Given the description of an element on the screen output the (x, y) to click on. 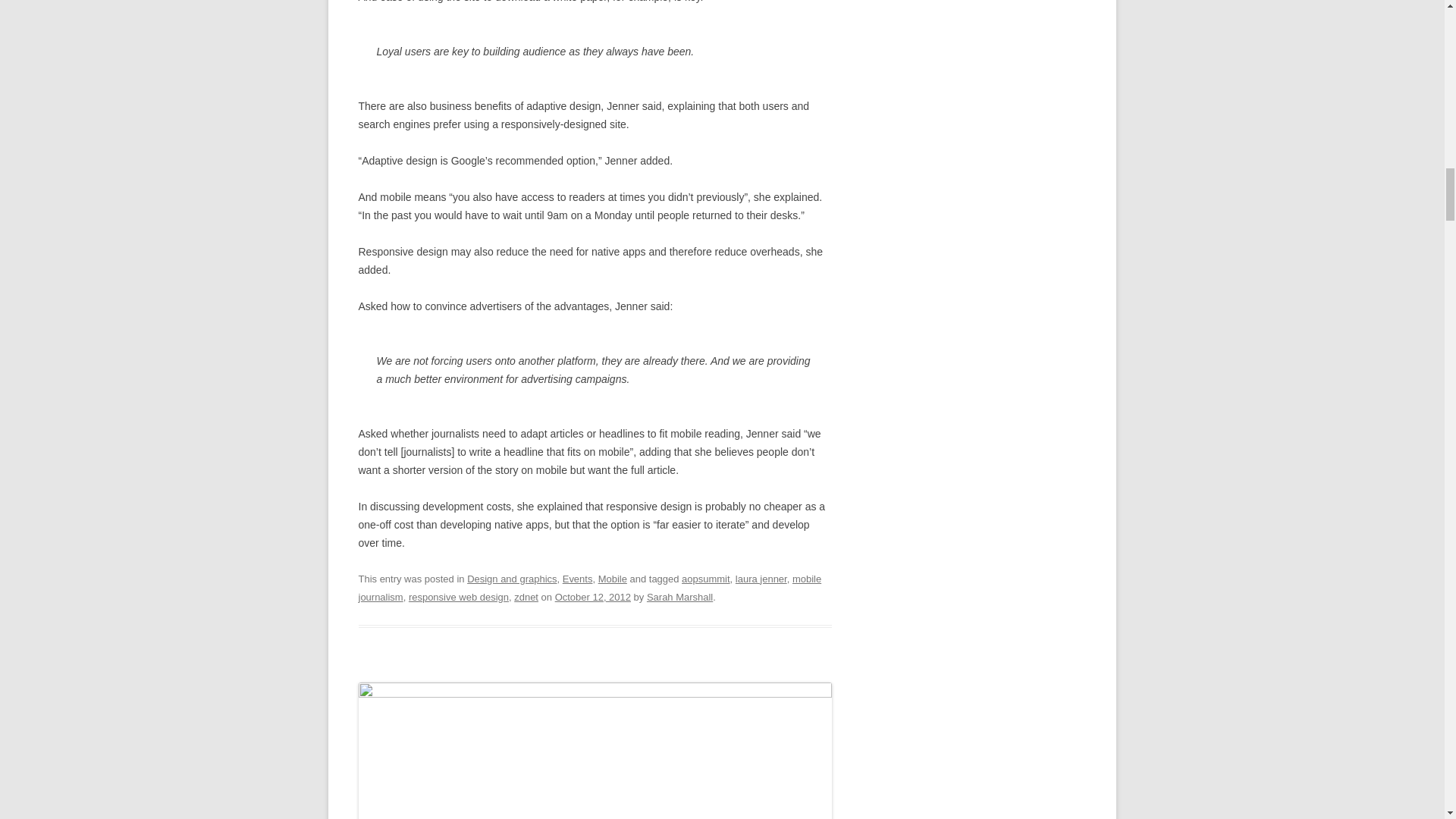
Sarah Marshall (679, 596)
View all posts by Sarah Marshall (679, 596)
Mobile (612, 578)
2:03 pm (592, 596)
Events (577, 578)
aopsummit (705, 578)
Design and graphics (511, 578)
responsive web design (458, 596)
October 12, 2012 (592, 596)
zdnet (525, 596)
